Given the description of an element on the screen output the (x, y) to click on. 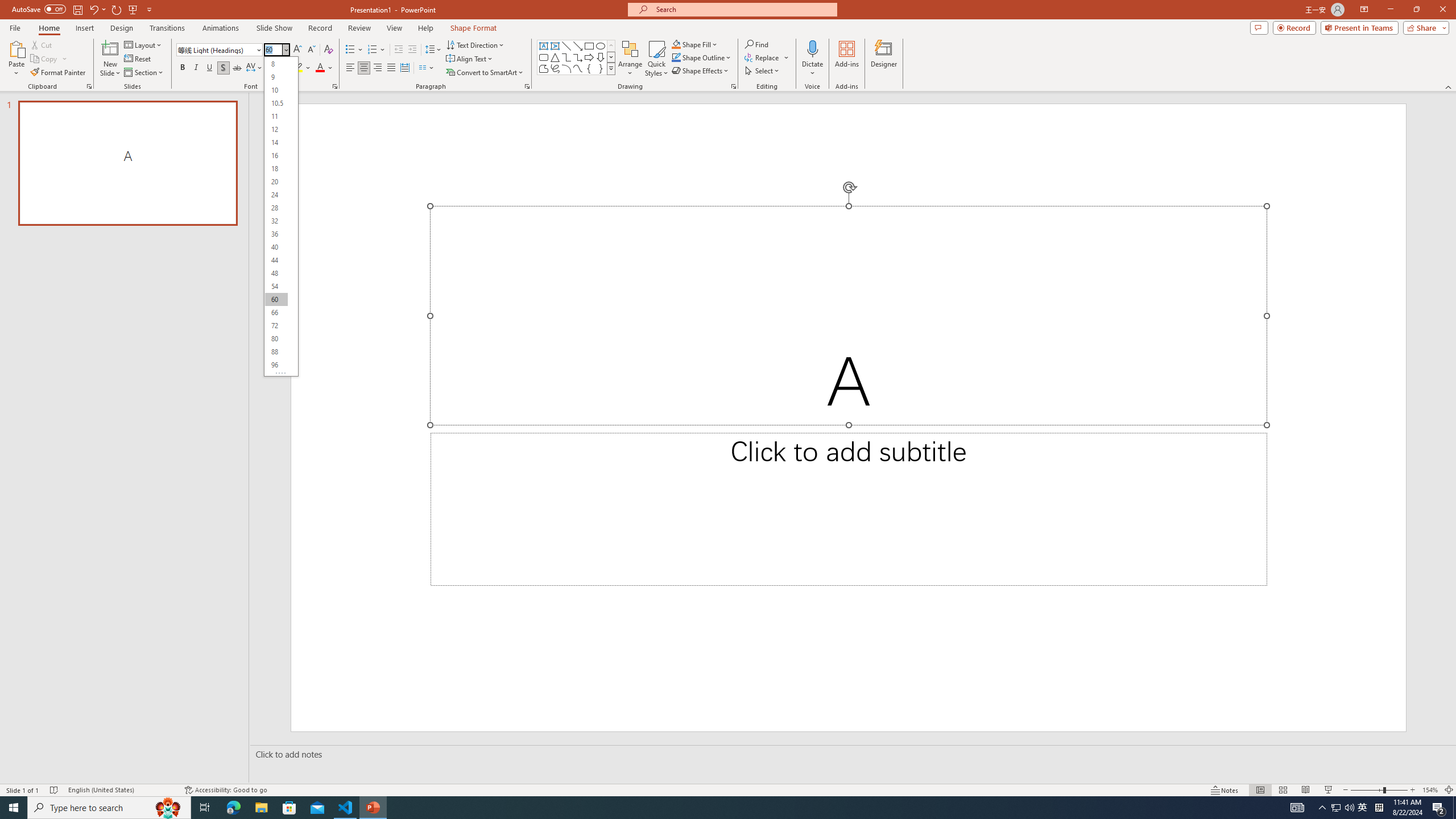
12 (276, 128)
18 (276, 168)
